Given the description of an element on the screen output the (x, y) to click on. 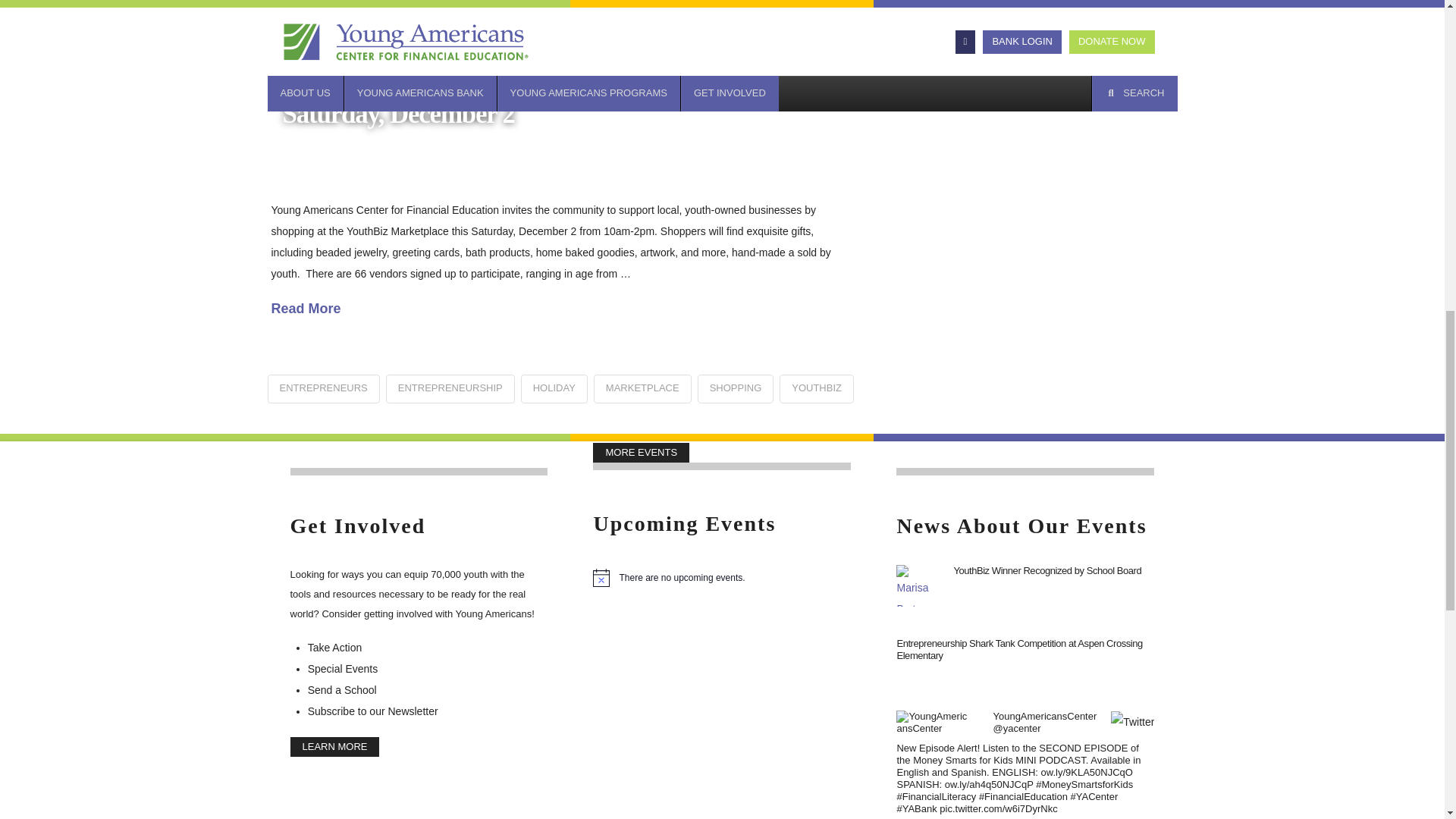
YoungAmericansCenter (941, 721)
YoungAmericansCenter (1016, 727)
YoungAmericansCenter (1044, 715)
